Given the description of an element on the screen output the (x, y) to click on. 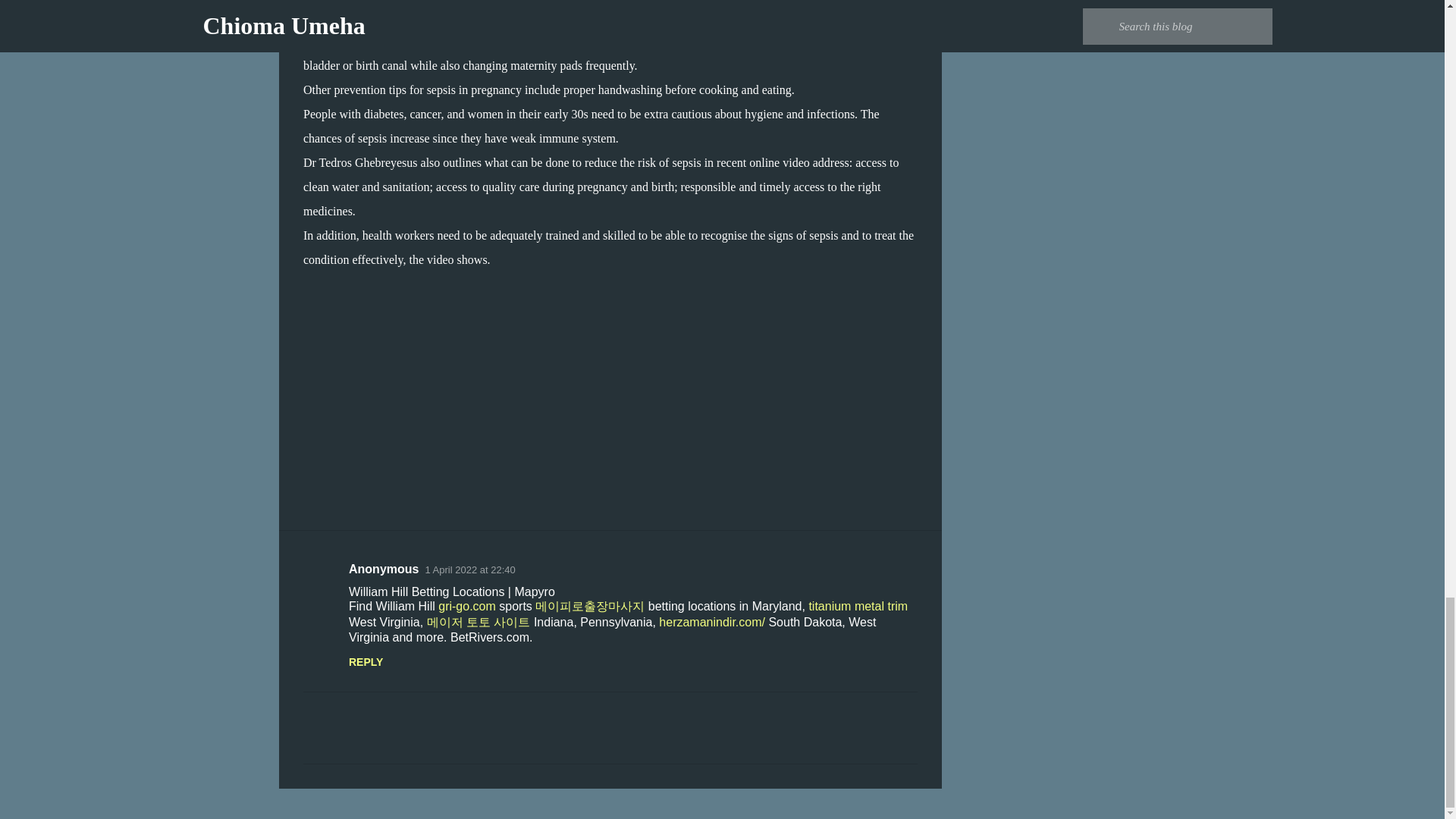
gri-go.com (467, 605)
titanium metal trim (857, 605)
Email Post (311, 432)
1 April 2022 at 22:40 (470, 569)
REPLY (365, 662)
